Given the description of an element on the screen output the (x, y) to click on. 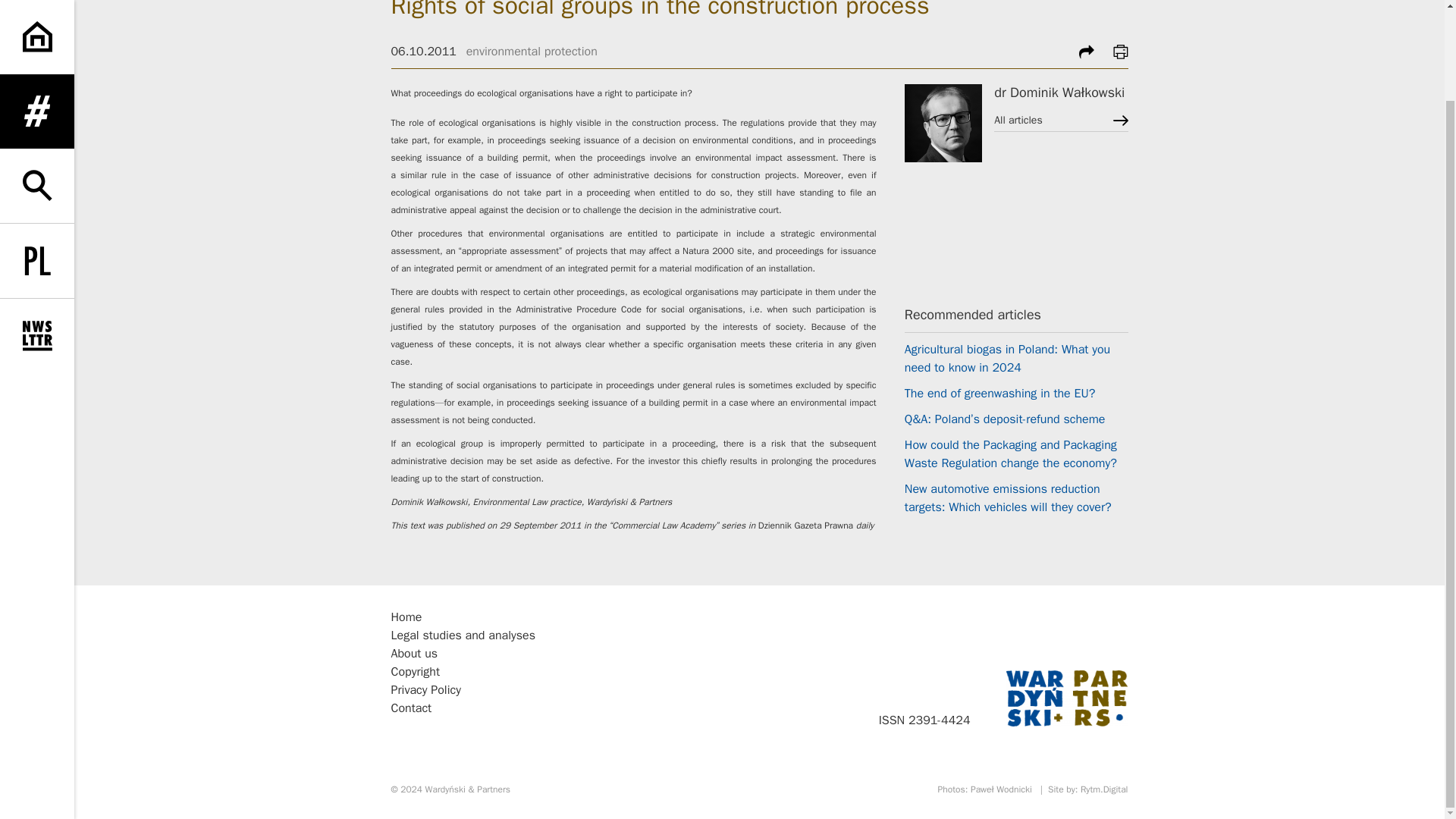
expand search form (37, 81)
expand newsletter subscription form (37, 231)
expand menu (37, 22)
